Given the description of an element on the screen output the (x, y) to click on. 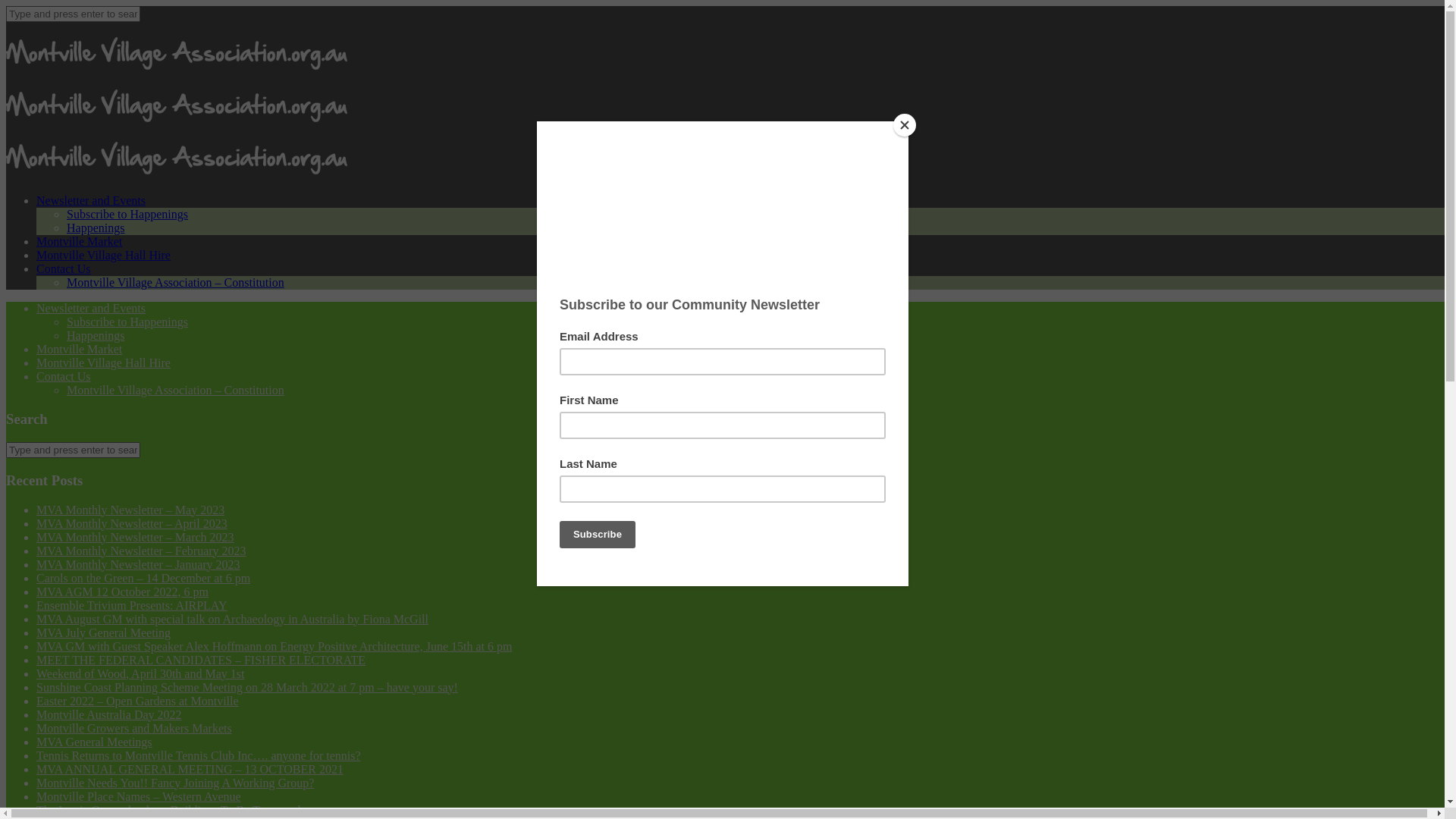
Contact Us Element type: text (63, 268)
Subscribe to Happenings Element type: text (127, 213)
Contact Us Element type: text (63, 376)
Montville Growers and Makers Markets Element type: text (134, 727)
Happenings Element type: text (95, 227)
Happenings Element type: text (95, 335)
MVA July General Meeting Element type: text (103, 632)
Weekend of Wood, April 30th and May 1st Element type: text (140, 673)
Subscribe to Happenings Element type: text (127, 321)
Newsletter and Events Element type: text (90, 307)
Montville Australia Day 2022 Element type: text (109, 714)
Montville Needs You!! Fancy Joining A Working Group? Element type: text (174, 782)
Montville Market Element type: text (79, 348)
Montville Village Hall Hire Element type: text (103, 362)
Montville Village Hall Hire Element type: text (103, 254)
Montville Market Element type: text (79, 241)
MVA General Meetings Element type: text (94, 741)
Ensemble Trivium Presents: AIRPLAY Element type: text (131, 605)
Newsletter and Events Element type: text (90, 200)
MVA AGM 12 October 2022, 6 pm Element type: text (122, 591)
